Given the description of an element on the screen output the (x, y) to click on. 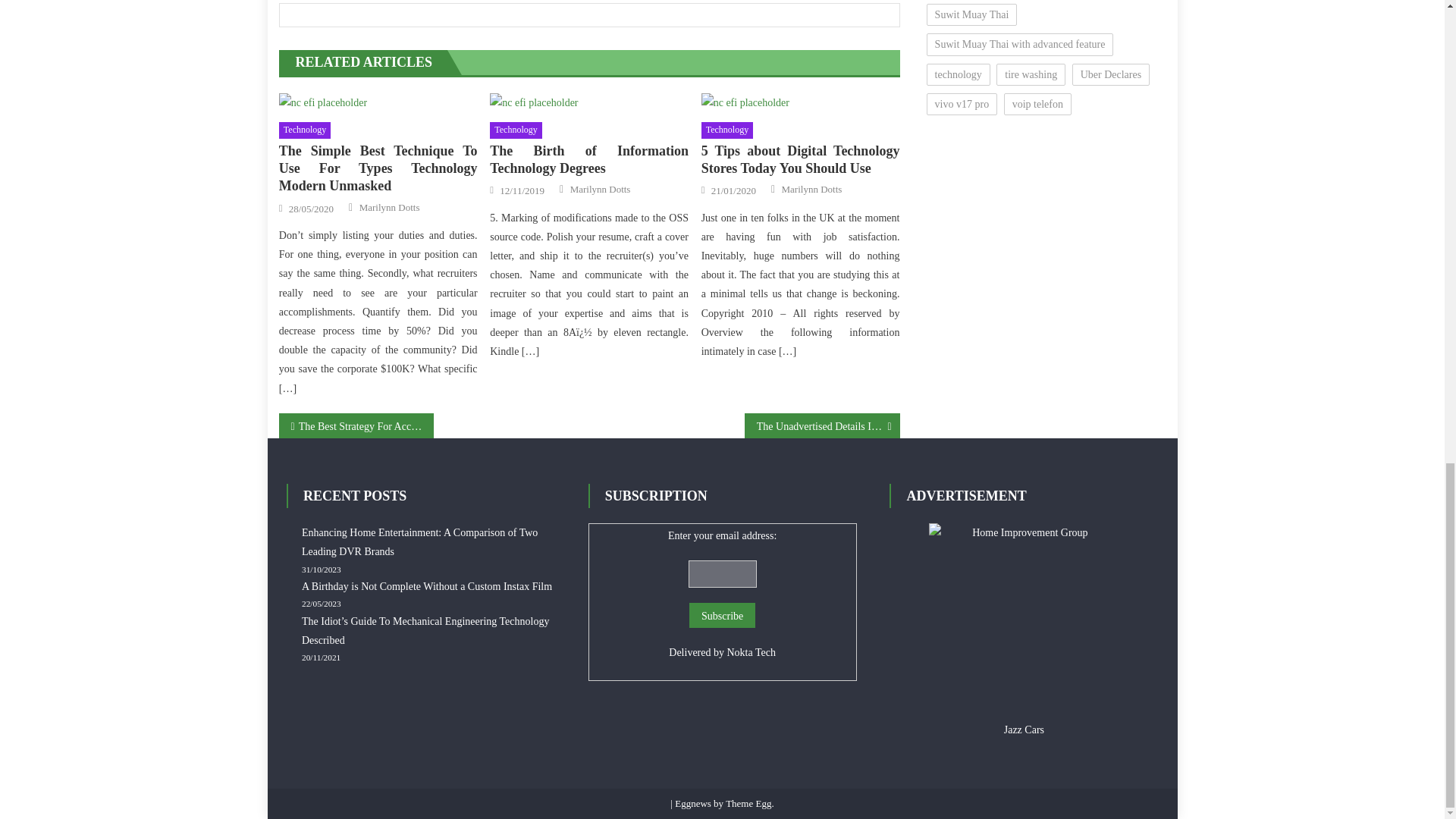
The Best Strategy For Accounting Software Programs (356, 425)
Technology (515, 130)
5 Tips about Digital Technology Stores Today You Should Use (800, 160)
The Birth of Information Technology Degrees (533, 102)
The Birth of Information Technology Degrees (588, 160)
Marilynn Dotts (812, 189)
Technology (726, 130)
5 Tips about Digital Technology Stores Today You Should Use (745, 102)
